Given the description of an element on the screen output the (x, y) to click on. 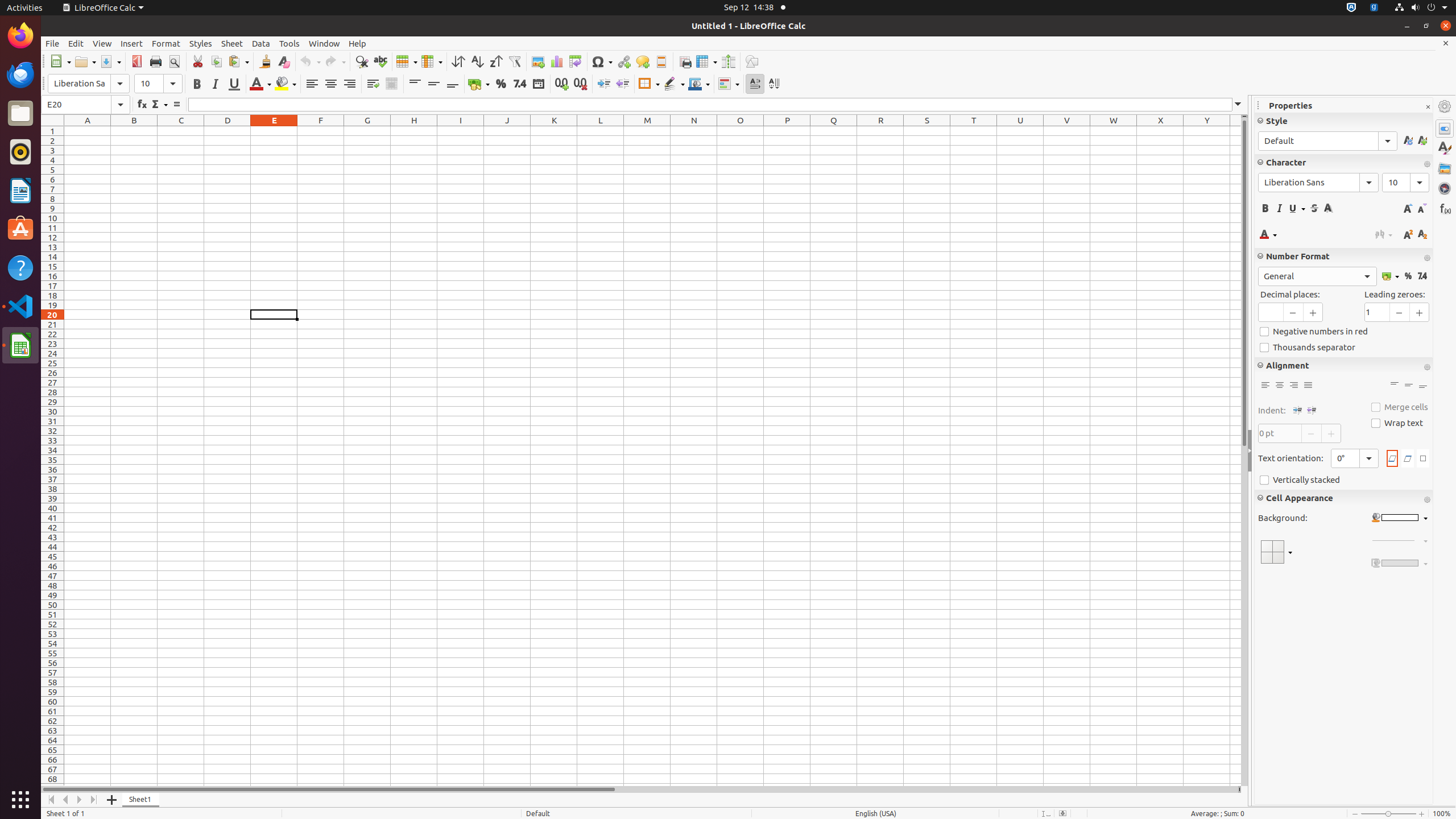
Wrap text Element type: check-box (1396, 422)
Wrap Text Element type: push-button (372, 83)
Align Bottom Element type: toggle-button (1422, 385)
Apply Style Element type: combo-box (1327, 140)
